Given the description of an element on the screen output the (x, y) to click on. 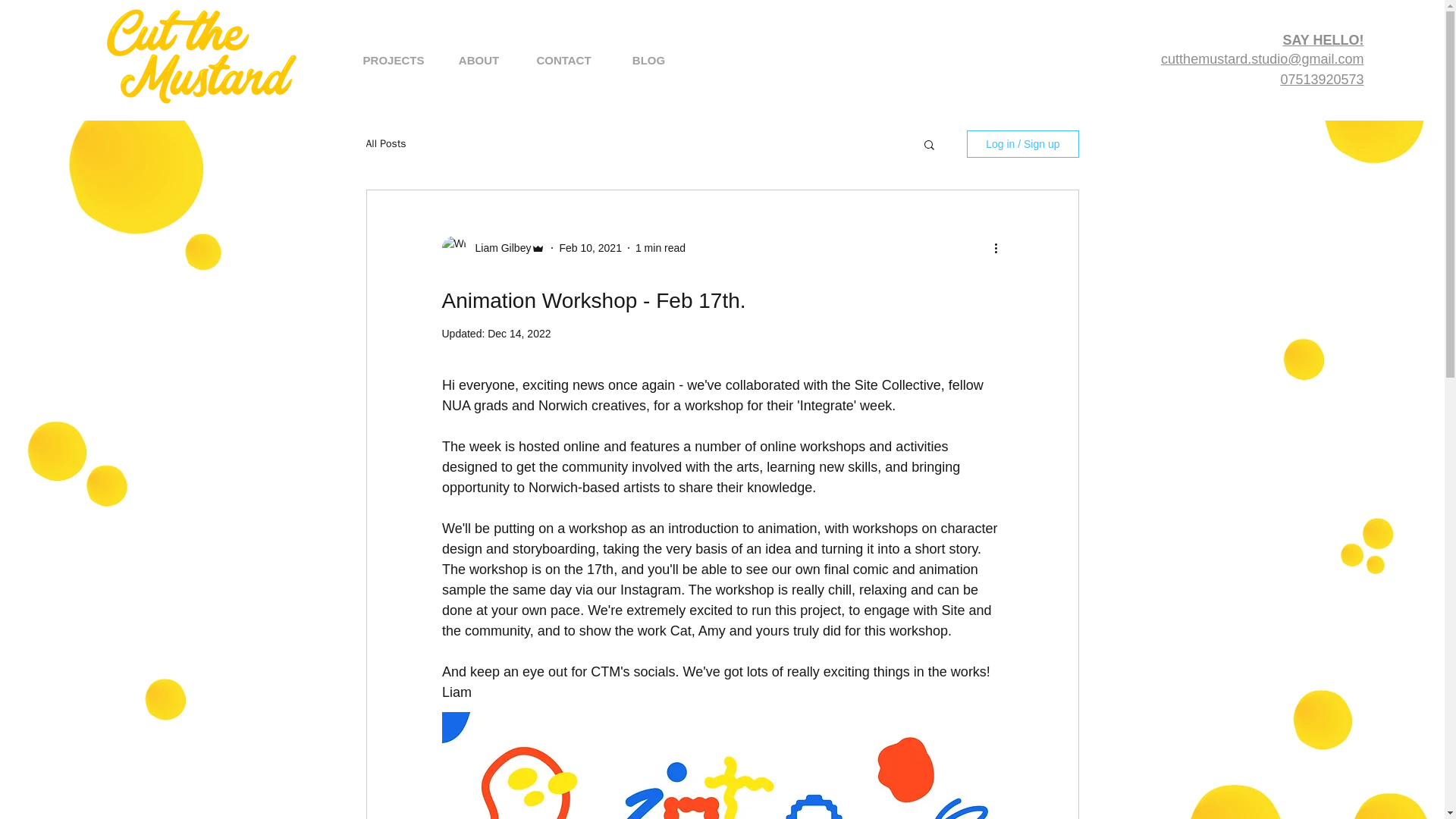
PROJECTS (392, 60)
BLOG (649, 60)
Feb 10, 2021 (590, 246)
All Posts (385, 143)
Liam Gilbey (498, 247)
SAY HELLO! (1322, 39)
07513920573 (1320, 79)
Dec 14, 2022 (518, 333)
CONTACT (564, 60)
ABOUT (478, 60)
